Given the description of an element on the screen output the (x, y) to click on. 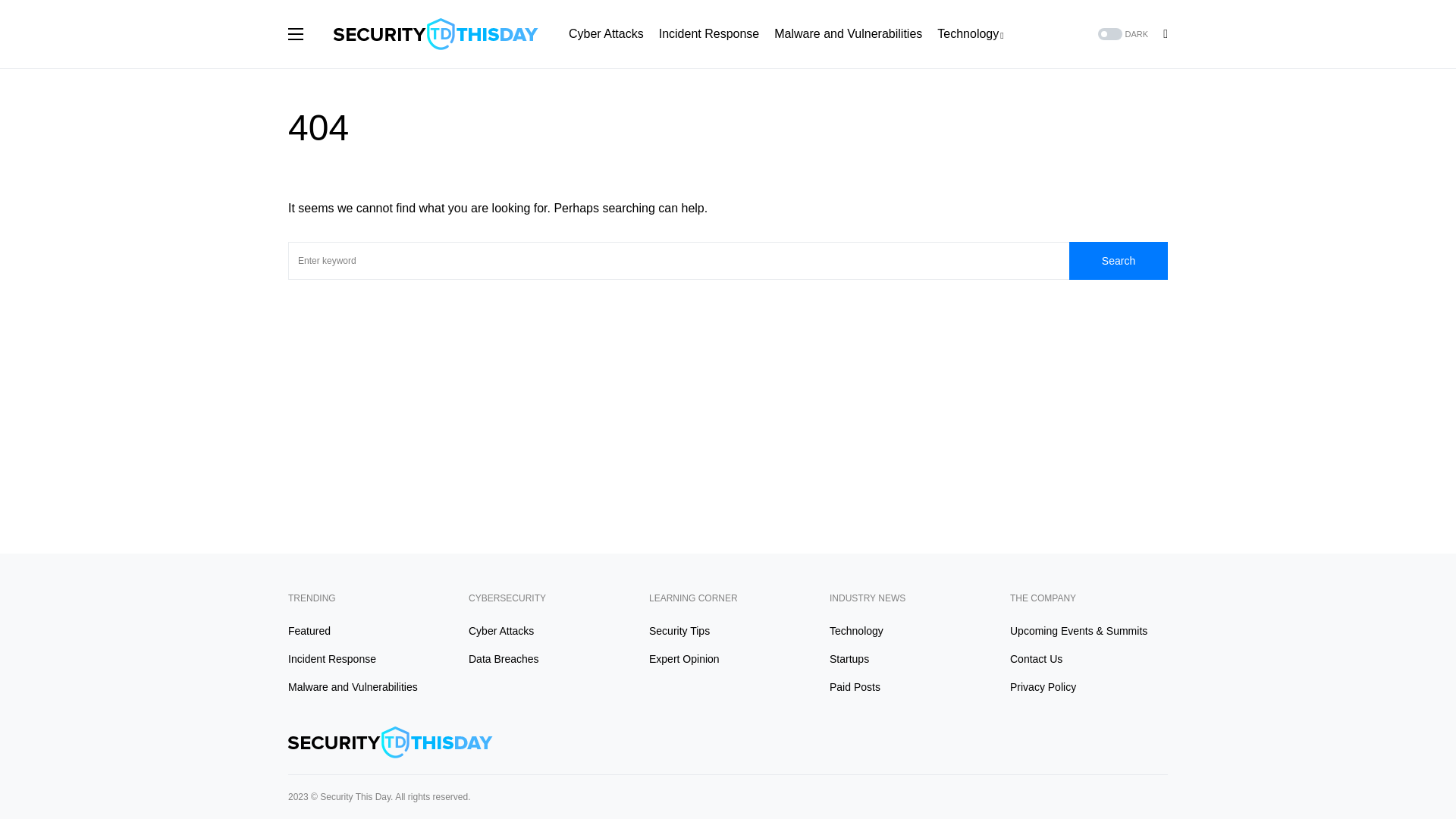
Incident Response (709, 33)
Malware and Vulnerabilities (847, 33)
Technology (970, 33)
Cyber Attacks (606, 33)
